Given the description of an element on the screen output the (x, y) to click on. 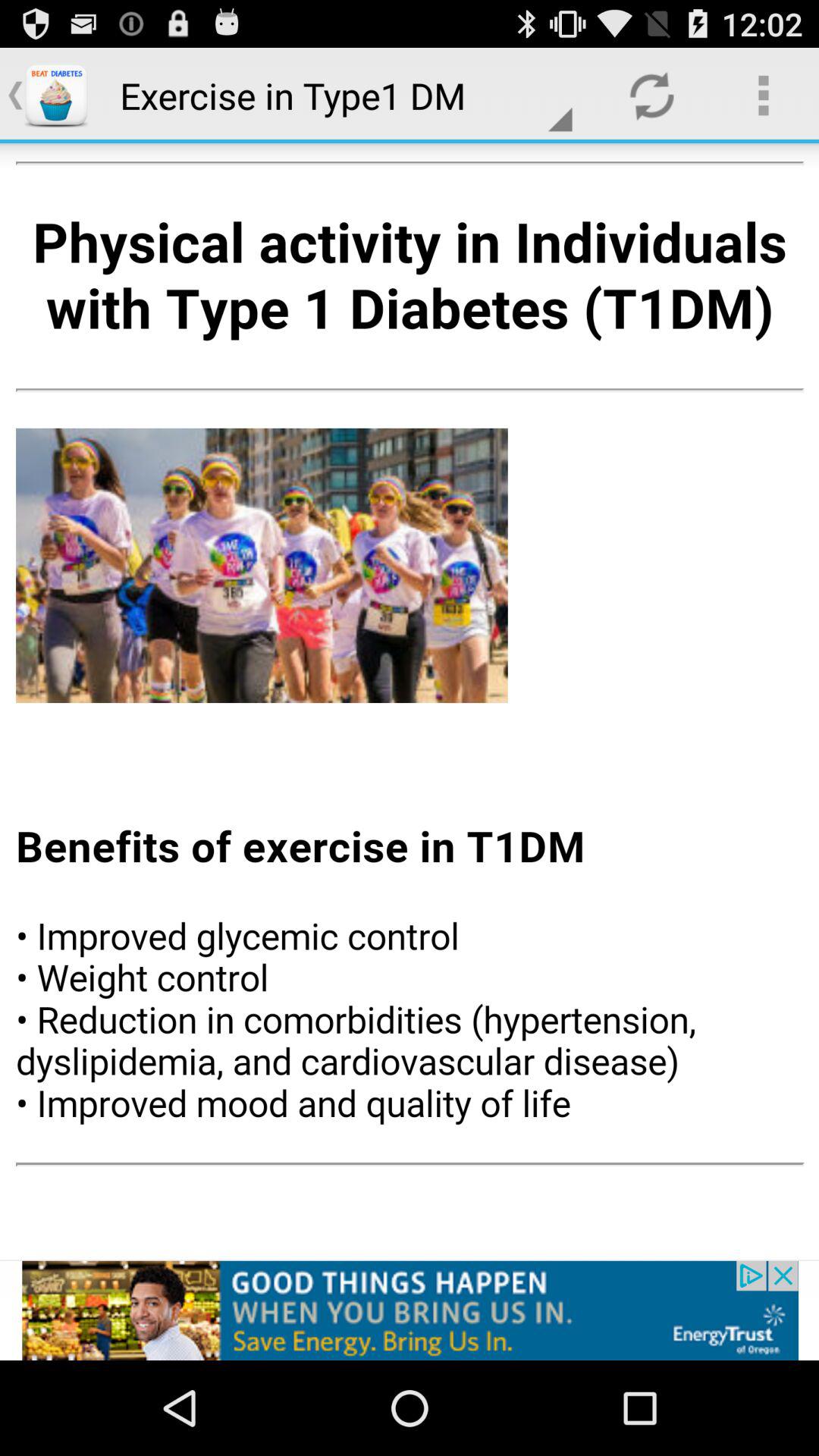
add the option (409, 1310)
